Given the description of an element on the screen output the (x, y) to click on. 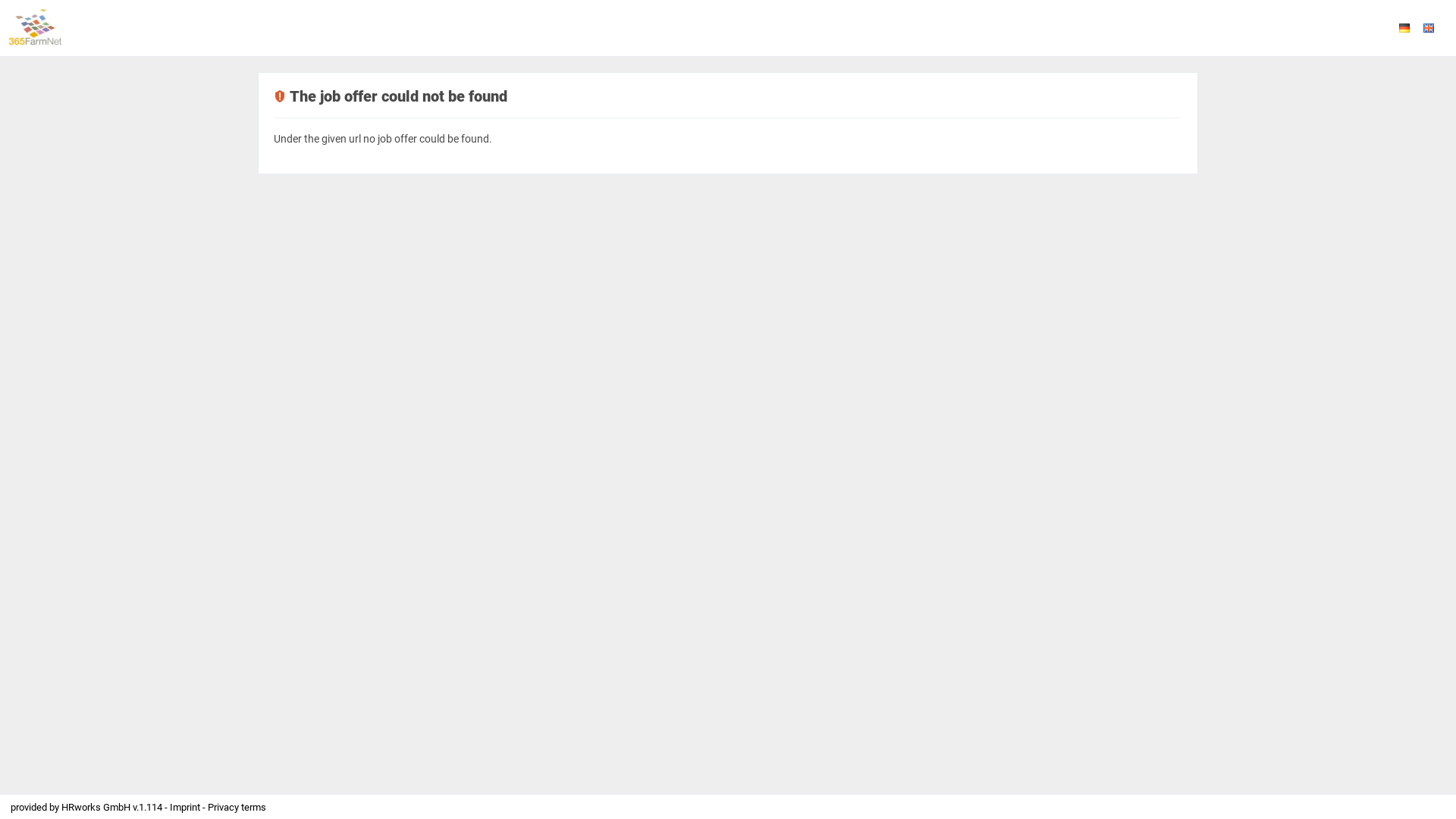
HRworks GmbH Element type: text (96, 806)
Privacy terms Element type: text (236, 806)
Imprint Element type: text (185, 806)
